Given the description of an element on the screen output the (x, y) to click on. 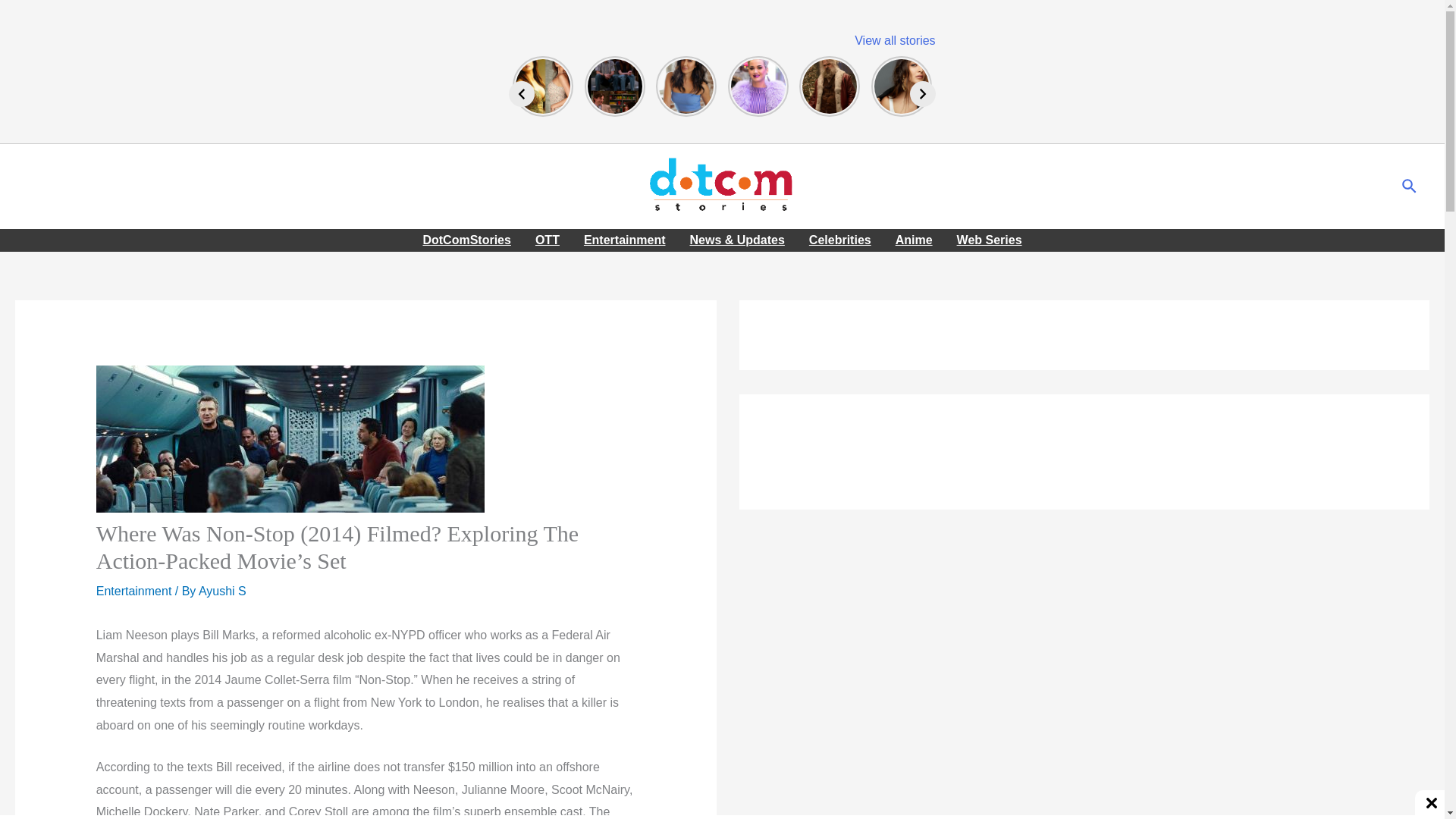
Ayushi S (222, 590)
DotComStories (466, 240)
Celebrities (839, 240)
OTT (547, 240)
View all stories (894, 40)
Search (1410, 187)
Web Series (988, 240)
Entertainment (133, 590)
View all posts by Ayushi S (222, 590)
Entertainment (625, 240)
Anime (913, 240)
